Given the description of an element on the screen output the (x, y) to click on. 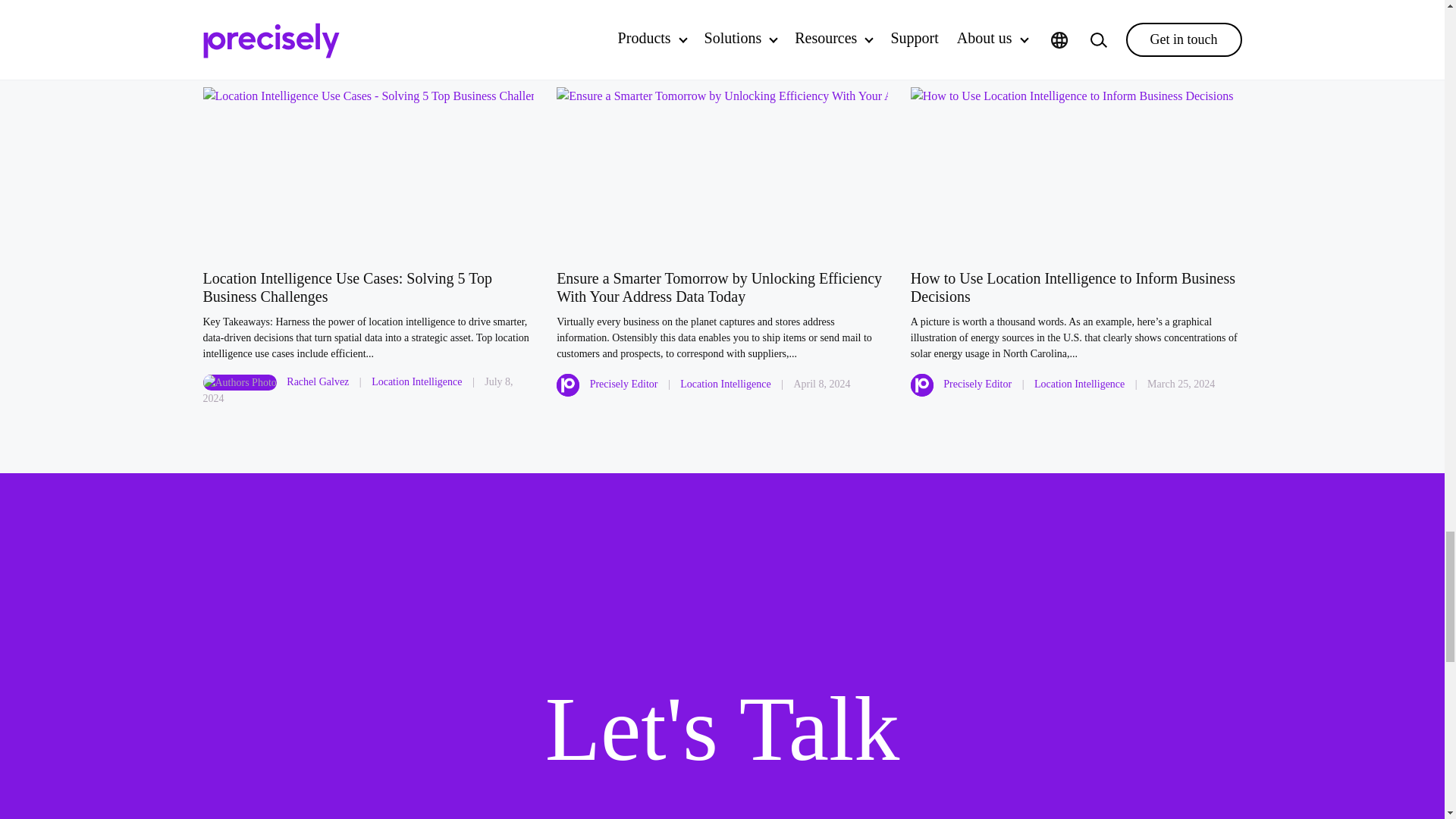
Precisely Editor (623, 383)
Location Intelligence (416, 381)
Rachel Galvez (317, 381)
